Given the description of an element on the screen output the (x, y) to click on. 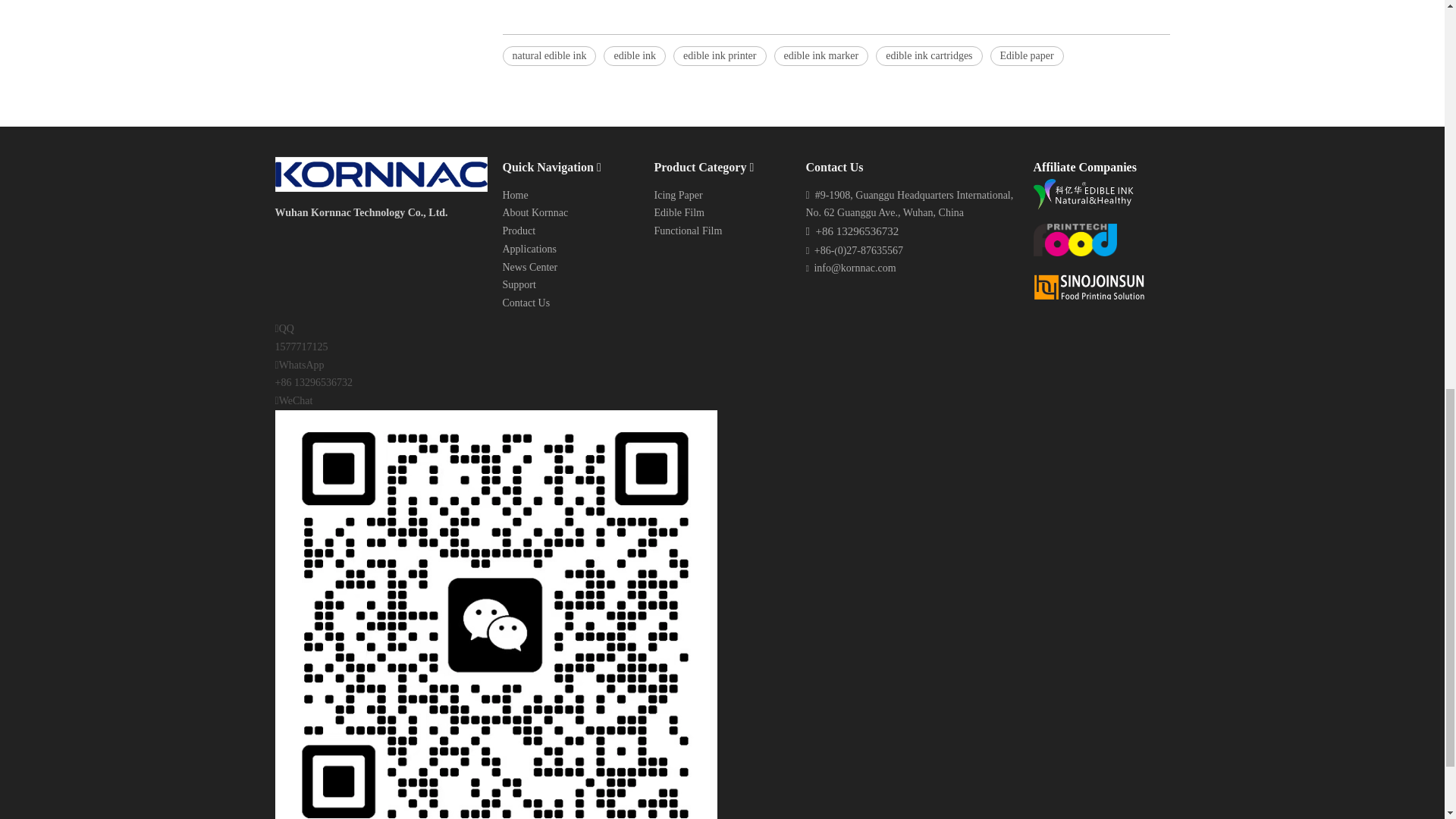
edible ink cartridges (928, 55)
edible ink printer (718, 55)
About Kornnac (534, 212)
edible ink (634, 55)
Edible paper (1027, 55)
Home (514, 194)
kornnac (380, 174)
edible ink marker (820, 55)
natural edible ink (548, 55)
